Given the description of an element on the screen output the (x, y) to click on. 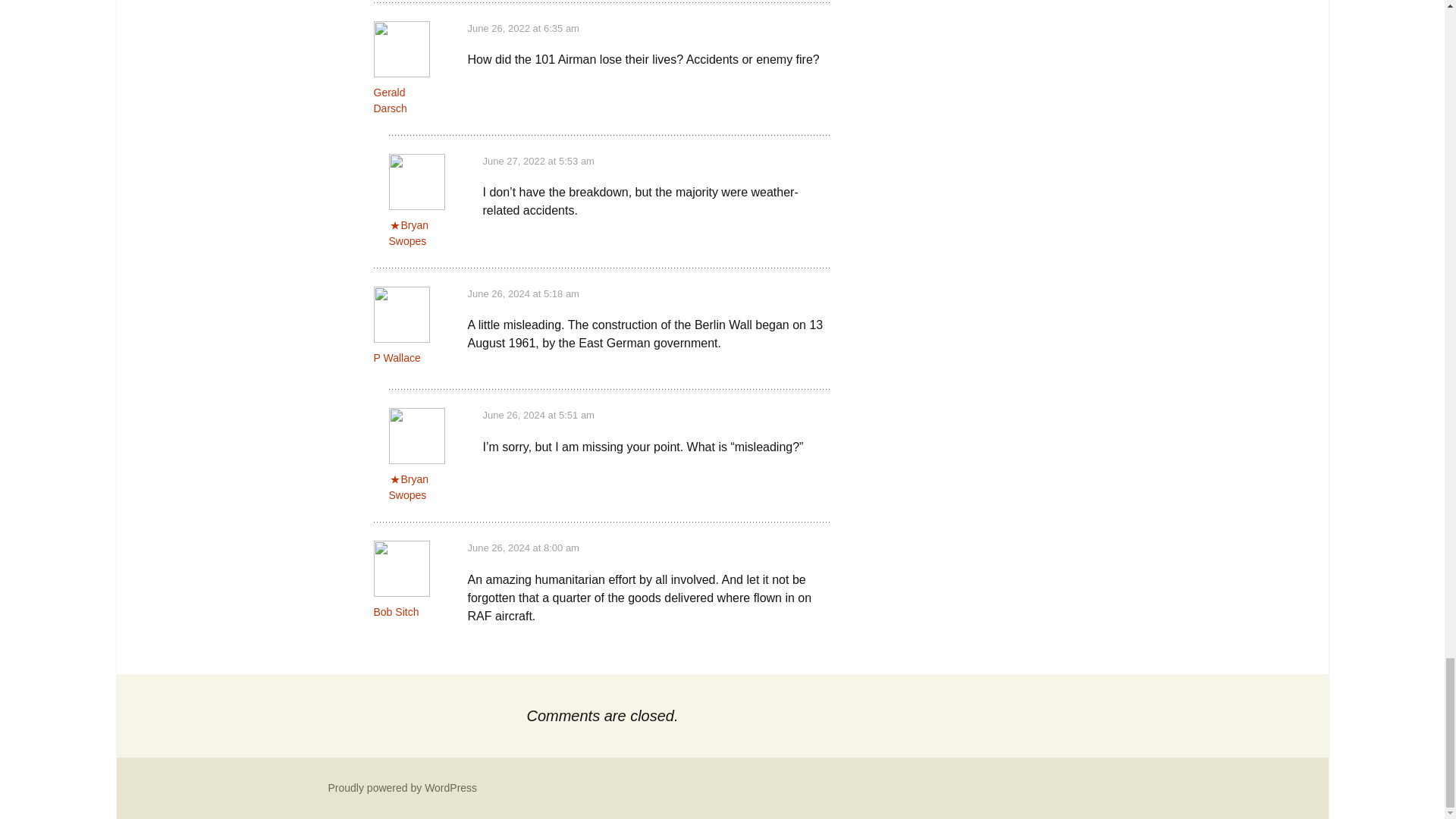
June 26, 2024 at 5:18 am (522, 293)
Bryan Swopes (408, 233)
June 26, 2022 at 6:35 am (522, 28)
June 27, 2022 at 5:53 am (537, 161)
